Given the description of an element on the screen output the (x, y) to click on. 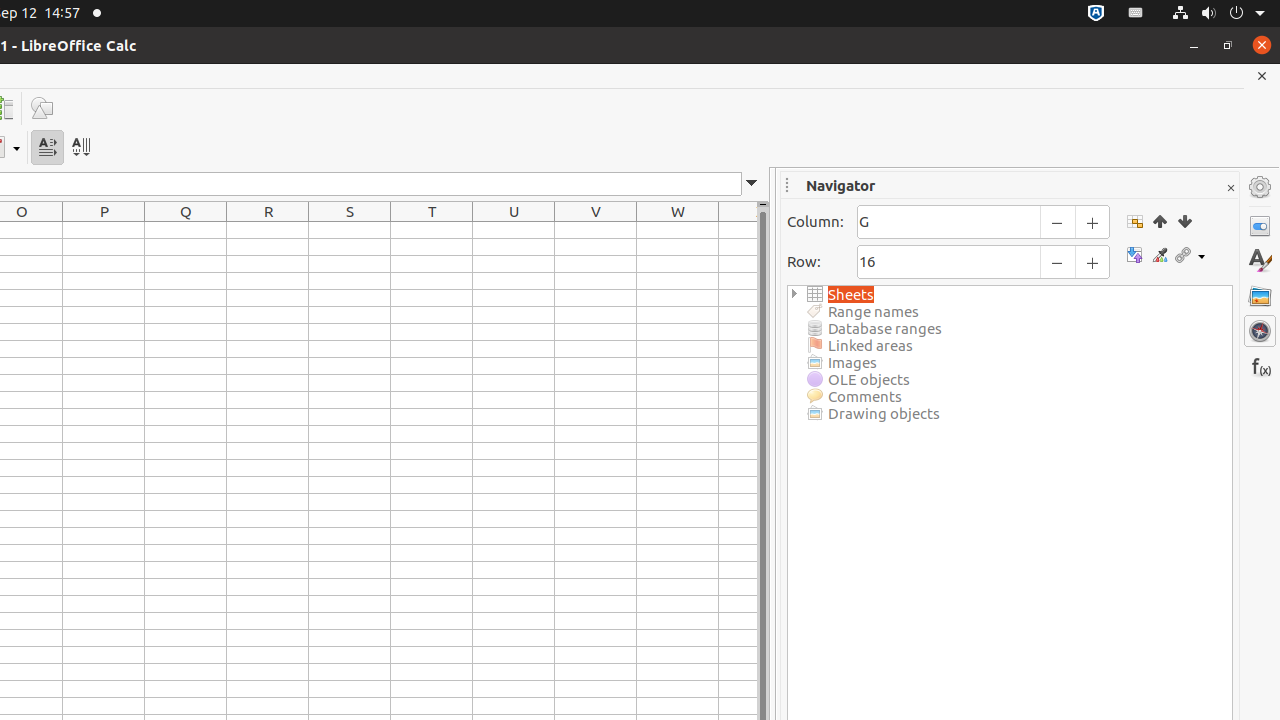
Drag Mode Element type: push-button (1190, 255)
U1 Element type: table-cell (514, 230)
Styles Element type: radio-button (1260, 261)
Toggle Element type: push-button (1134, 255)
End Element type: push-button (1184, 221)
